Given the description of an element on the screen output the (x, y) to click on. 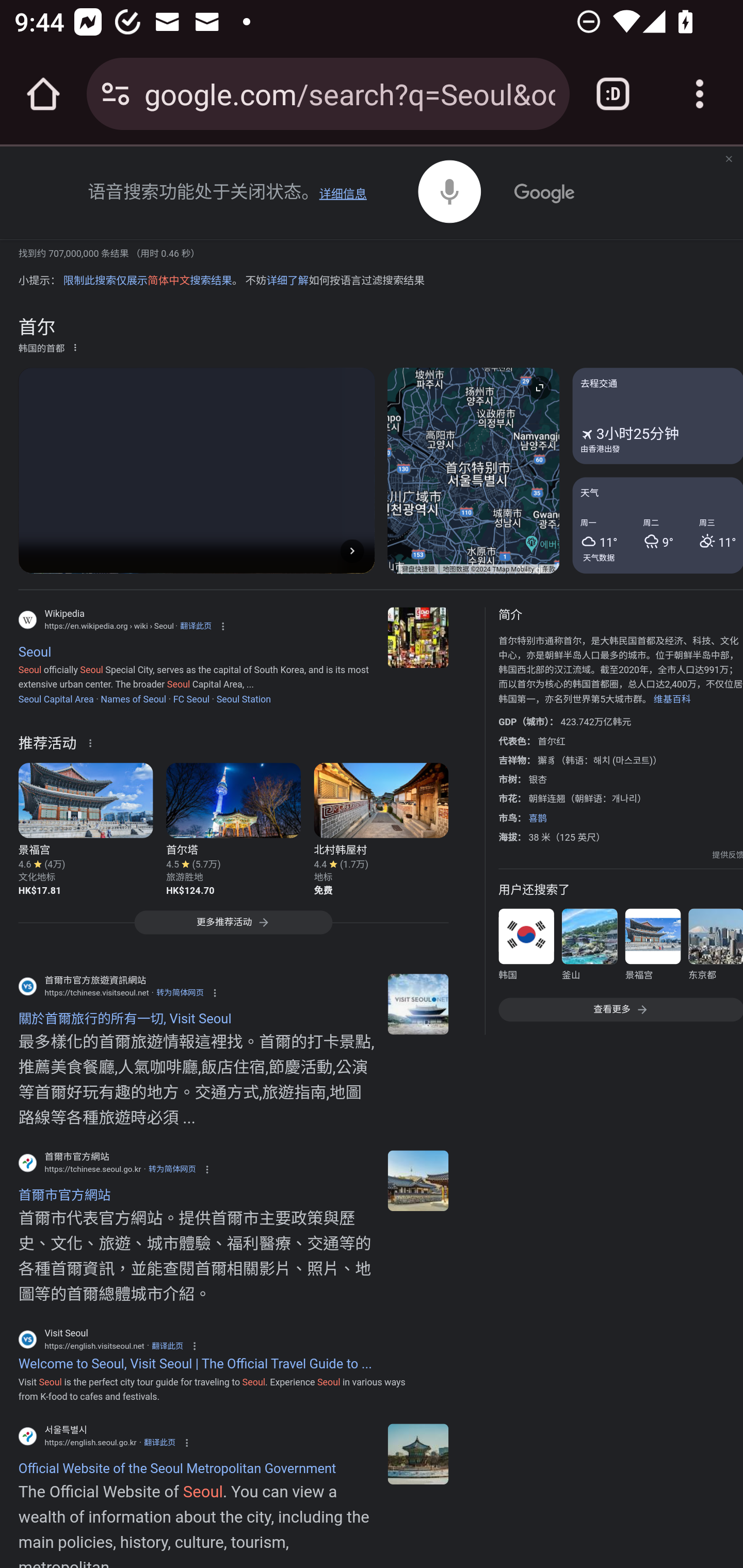
Open the home page (43, 93)
Connection is secure (115, 93)
Switch or close tabs (612, 93)
Customize and control Google Chrome (699, 93)
关闭 (727, 159)
详细信息 (342, 194)
限制此搜索仅展示简体中文搜索结果 限制此搜索仅展示 简体中文 搜索结果 (147, 280)
详细了解 (287, 280)
更多选项 (74, 347)
去程交通 3小时25分钟 乘坐飞机 由香港出發 (657, 415)
展开地图 (539, 386)
天气 周一 高温 11 度 周二 高温 9 度 周三 高温 11 度 (657, 524)
下一张图片 (352, 550)
天气数据 (599, 557)
Seoul (417, 636)
翻译此页 (195, 626)
Seoul Capital Area (55, 698)
Names of Seoul (133, 698)
FC Seoul (190, 698)
Seoul Station (243, 698)
维基百科 (671, 698)
关于这条结果的详细信息 (93, 742)
喜鹊 (537, 817)
提供反馈 (727, 854)
韩国 (526, 947)
釜山 (588, 947)
景福宫 (652, 947)
东京都 (715, 947)
更多推荐活动 (232, 926)
tchinese.visitseoul (417, 1003)
转为简体网页 (179, 992)
查看更多 查看更多 查看更多 (620, 1009)
tchinese.seoul.go (417, 1179)
转为简体网页 (171, 1169)
翻译此页 (167, 1345)
english.seoul.go (417, 1453)
翻译此页 (159, 1442)
